Given the description of an element on the screen output the (x, y) to click on. 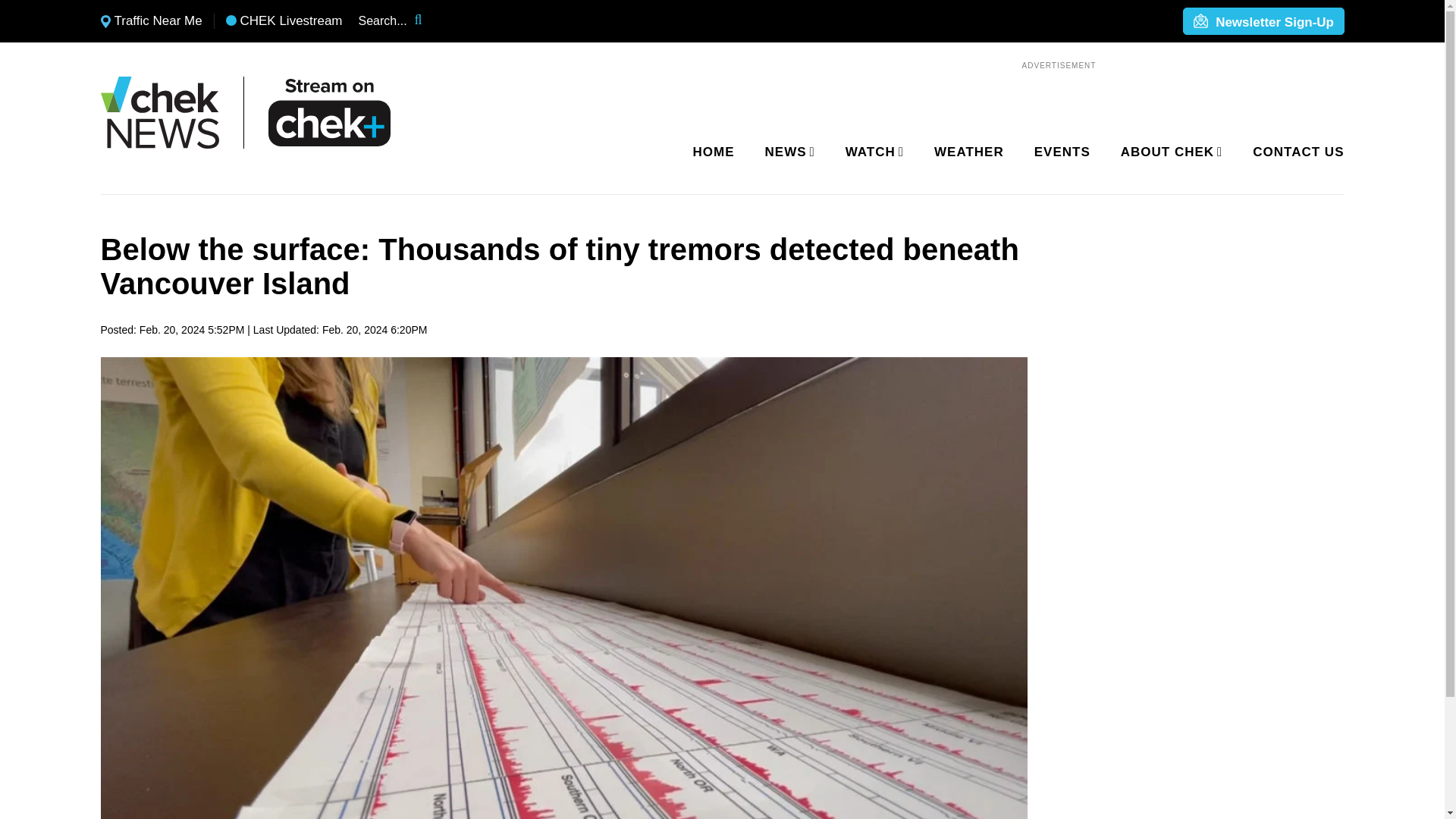
HOME (714, 152)
Newsletter Sign-Up (1262, 22)
Traffic Near Me (151, 20)
CHEK Livestream (283, 20)
NEWS (787, 152)
Search (428, 21)
